Given the description of an element on the screen output the (x, y) to click on. 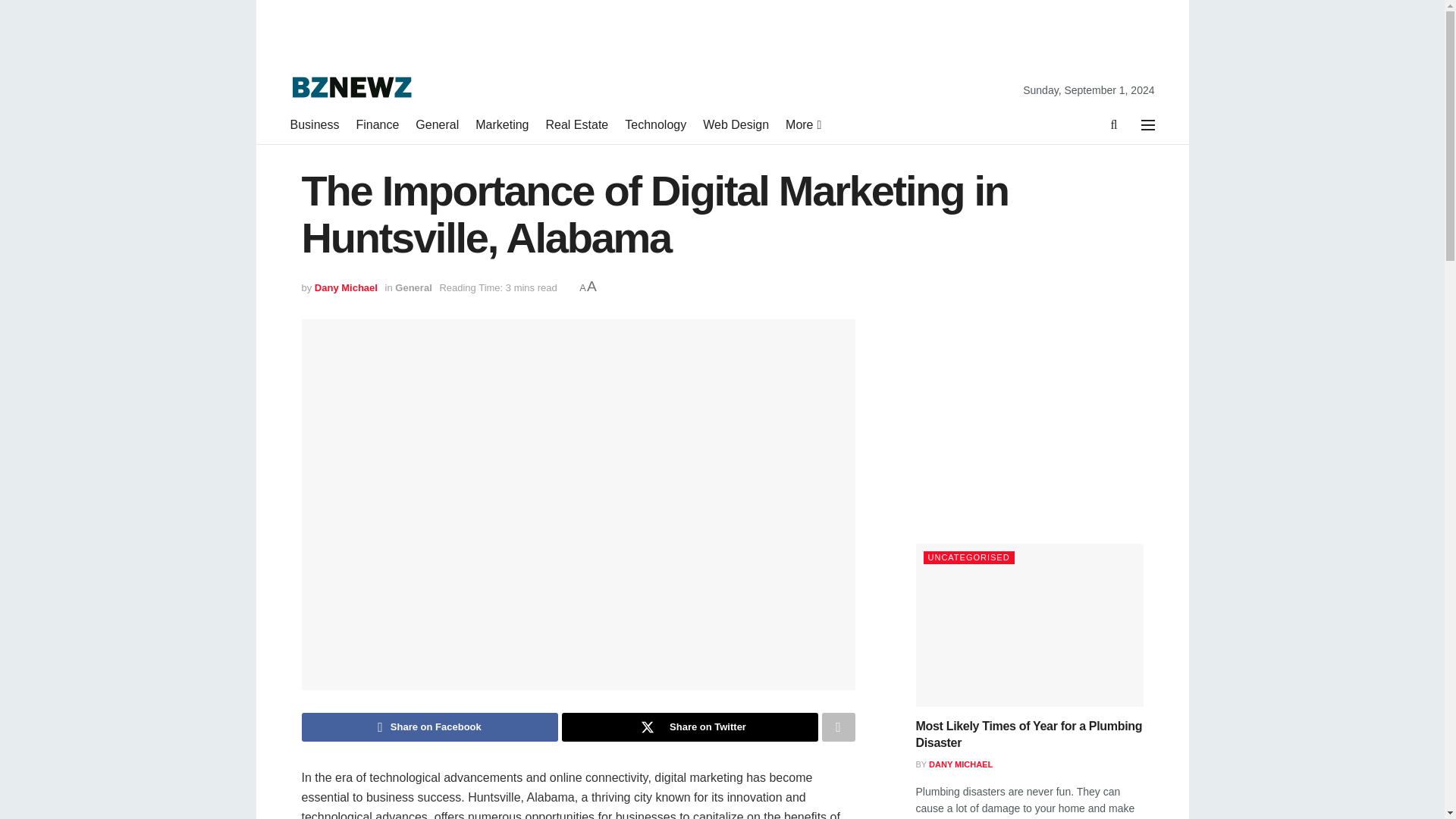
Business (314, 124)
More (802, 124)
Marketing (502, 124)
Web Design (735, 124)
General (436, 124)
Finance (376, 124)
Technology (654, 124)
Real Estate (577, 124)
